Given the description of an element on the screen output the (x, y) to click on. 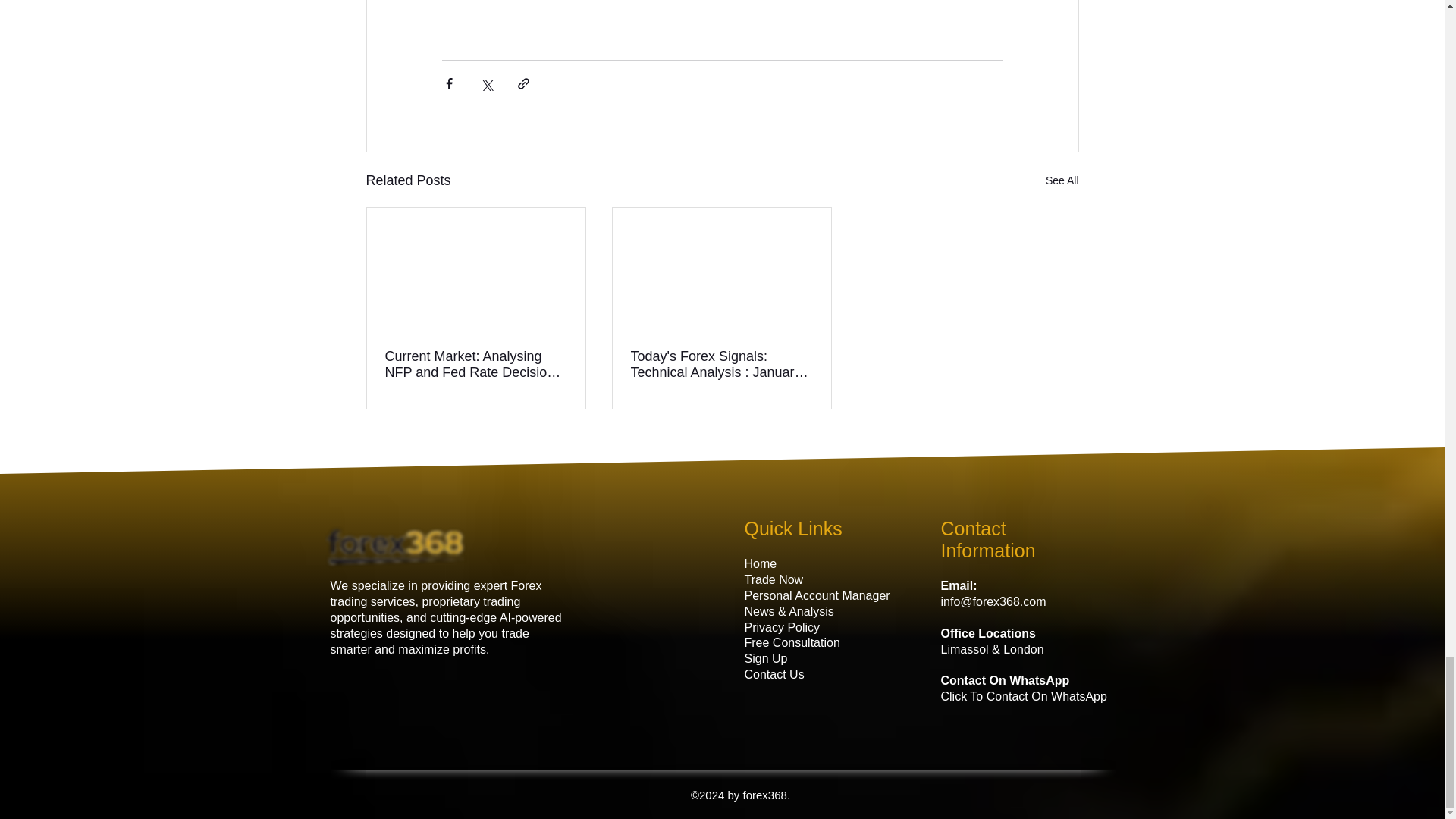
Sign Up (765, 658)
See All (1061, 180)
Contact Us (774, 674)
Today's Forex Signals: Technical Analysis : January 5, 2024 (721, 364)
Free Consultation (792, 642)
Home (760, 563)
Personal Account Manager (816, 594)
Trade Now (773, 579)
Privacy Policy  (784, 626)
